Given the description of an element on the screen output the (x, y) to click on. 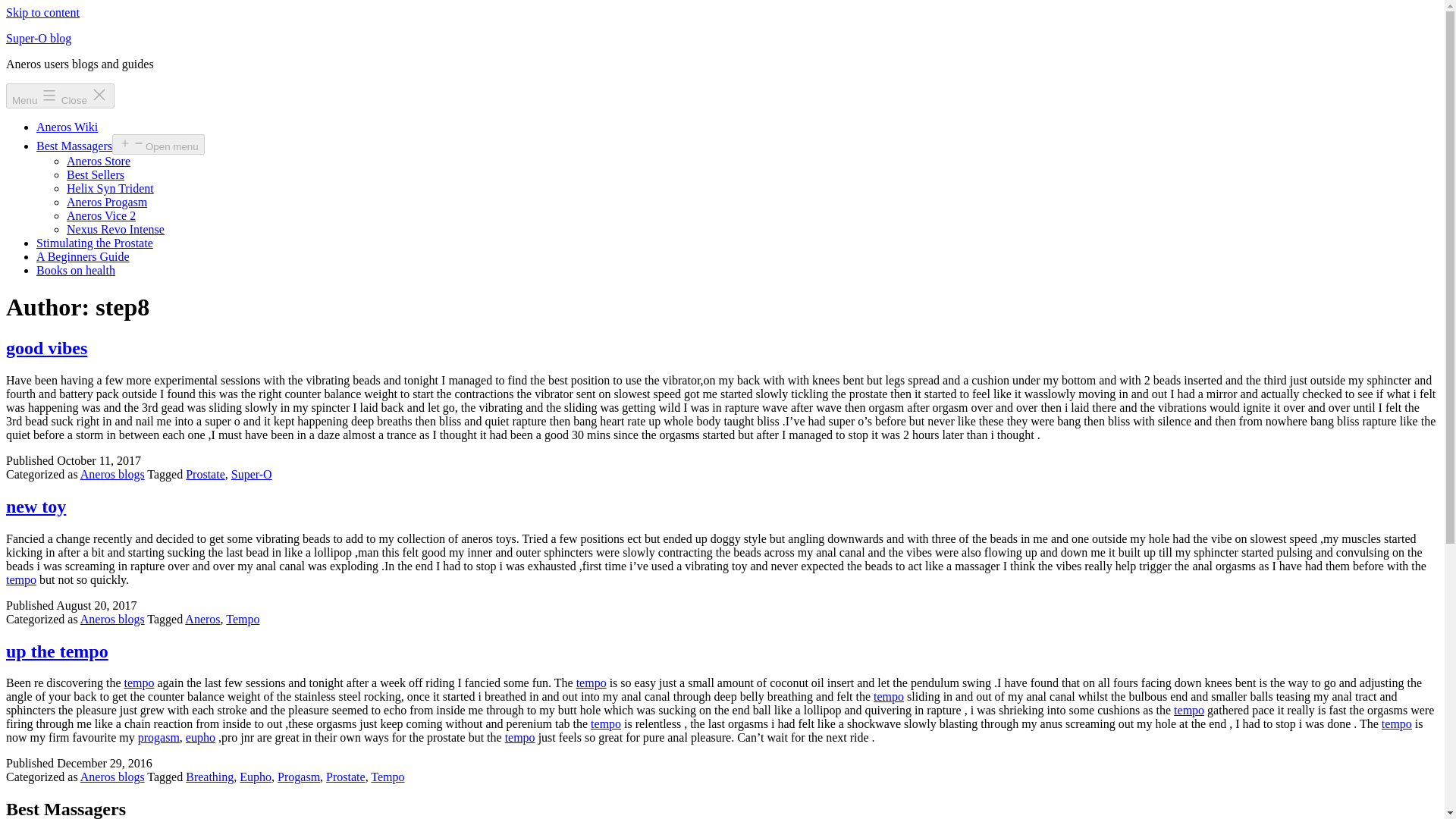
Breathing (209, 776)
Aneros Vice 2 (100, 215)
Skip to content (42, 11)
Find the best price (20, 579)
tempo (20, 579)
Aneros blogs (112, 776)
Find the best price (1188, 709)
Find the best price (200, 737)
Books on health (75, 269)
Aneros Wiki (66, 126)
tempo (138, 682)
Aneros (201, 618)
eupho (200, 737)
progasm (158, 737)
tempo (1396, 723)
